Given the description of an element on the screen output the (x, y) to click on. 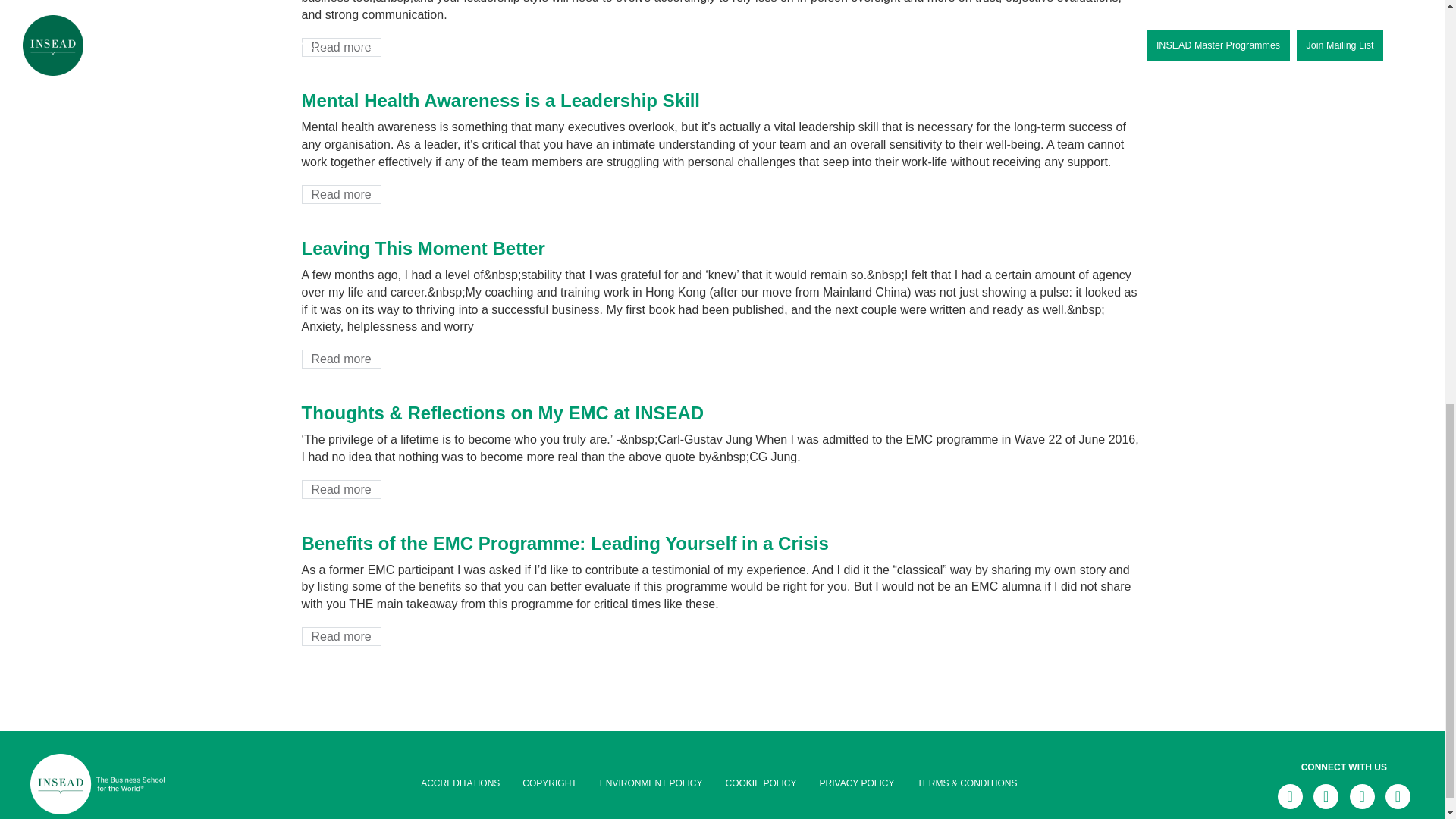
Leaving This Moment Better  (341, 358)
Benefits of the EMC Programme: Leading Yourself in a Crisis (564, 543)
Benefits of the EMC Programme: Leading Yourself in a Crisis (341, 636)
Mental Health Awareness is a Leadership Skill (500, 100)
Leaving This Moment Better (422, 248)
ENVIRONMENT POLICY (651, 783)
ACCREDITATIONS (460, 783)
